Given the description of an element on the screen output the (x, y) to click on. 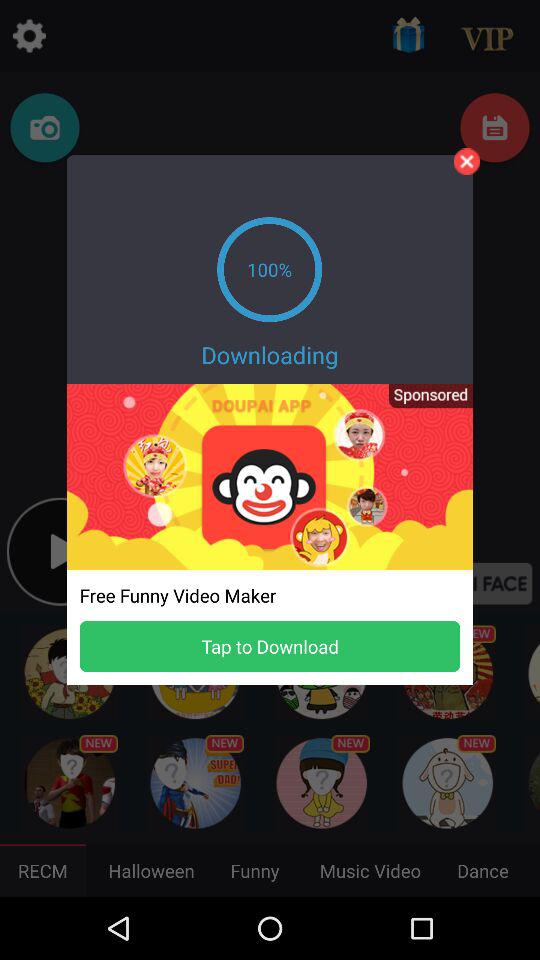
turn on tap to download button (269, 646)
